Given the description of an element on the screen output the (x, y) to click on. 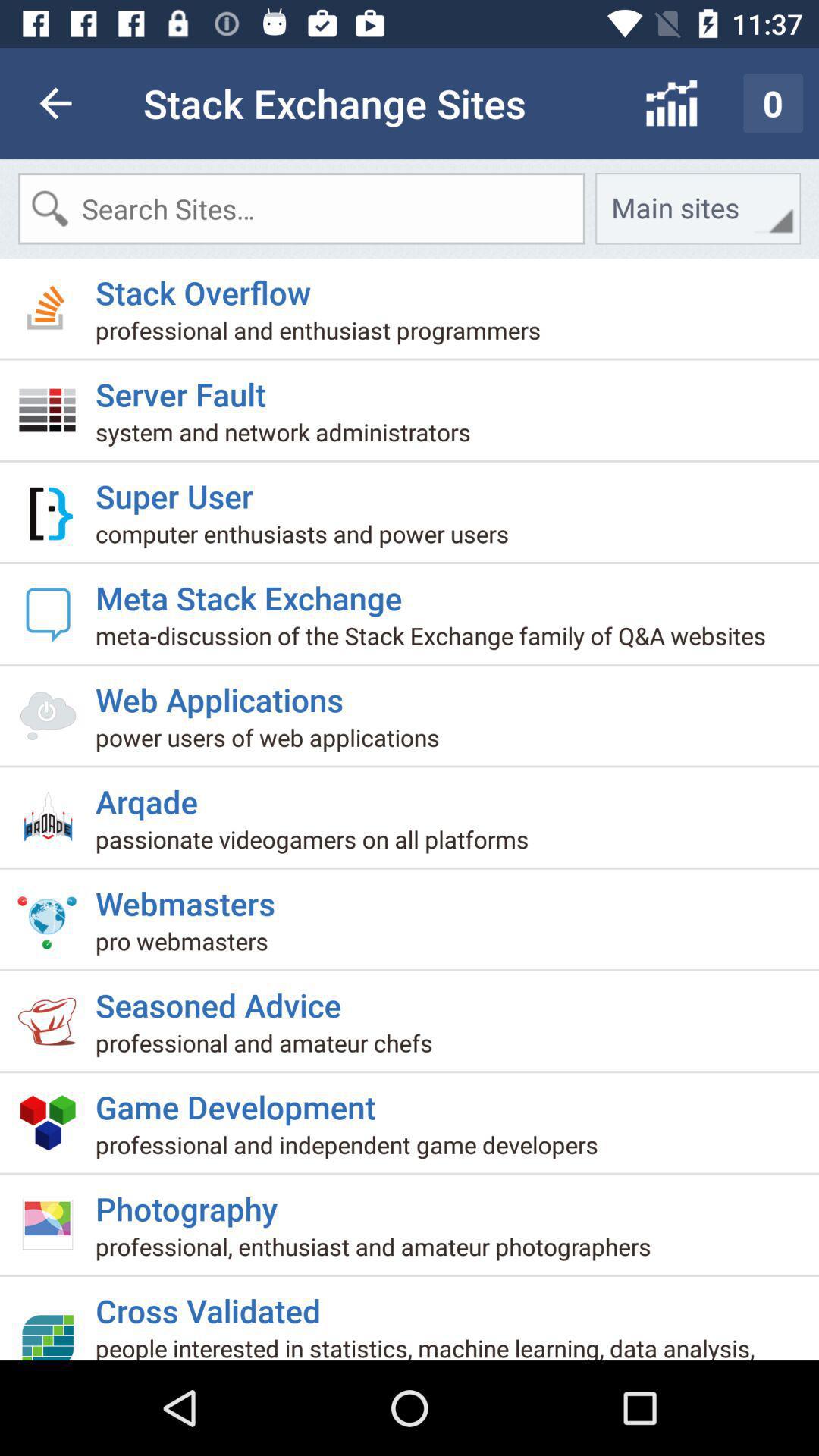
press the passionate videogamers on (317, 844)
